Given the description of an element on the screen output the (x, y) to click on. 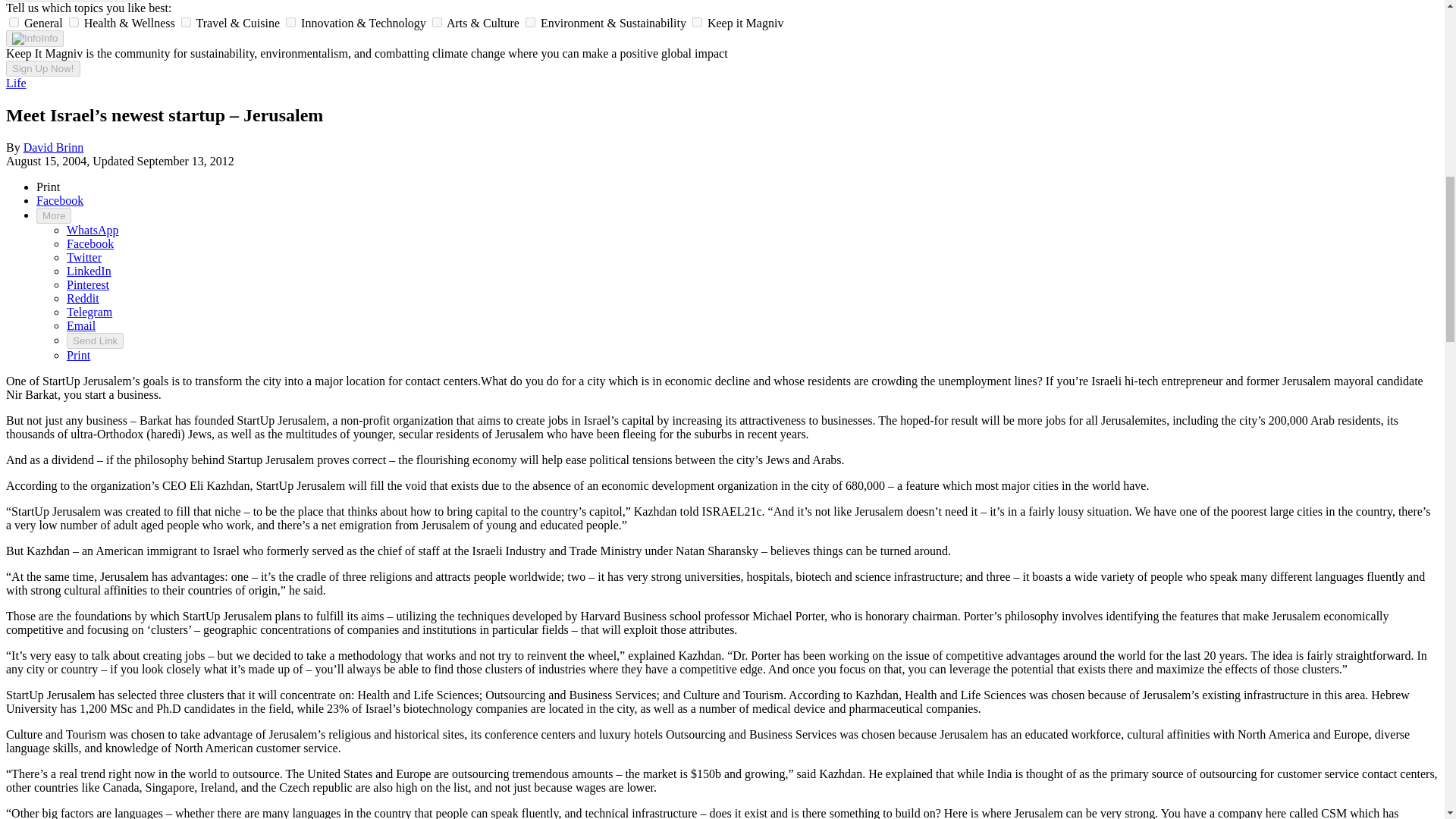
6 (697, 22)
David Brinn (53, 146)
4 (437, 22)
1 (73, 22)
0 (13, 22)
5 (530, 22)
Info (34, 38)
3 (290, 22)
2 (185, 22)
